Given the description of an element on the screen output the (x, y) to click on. 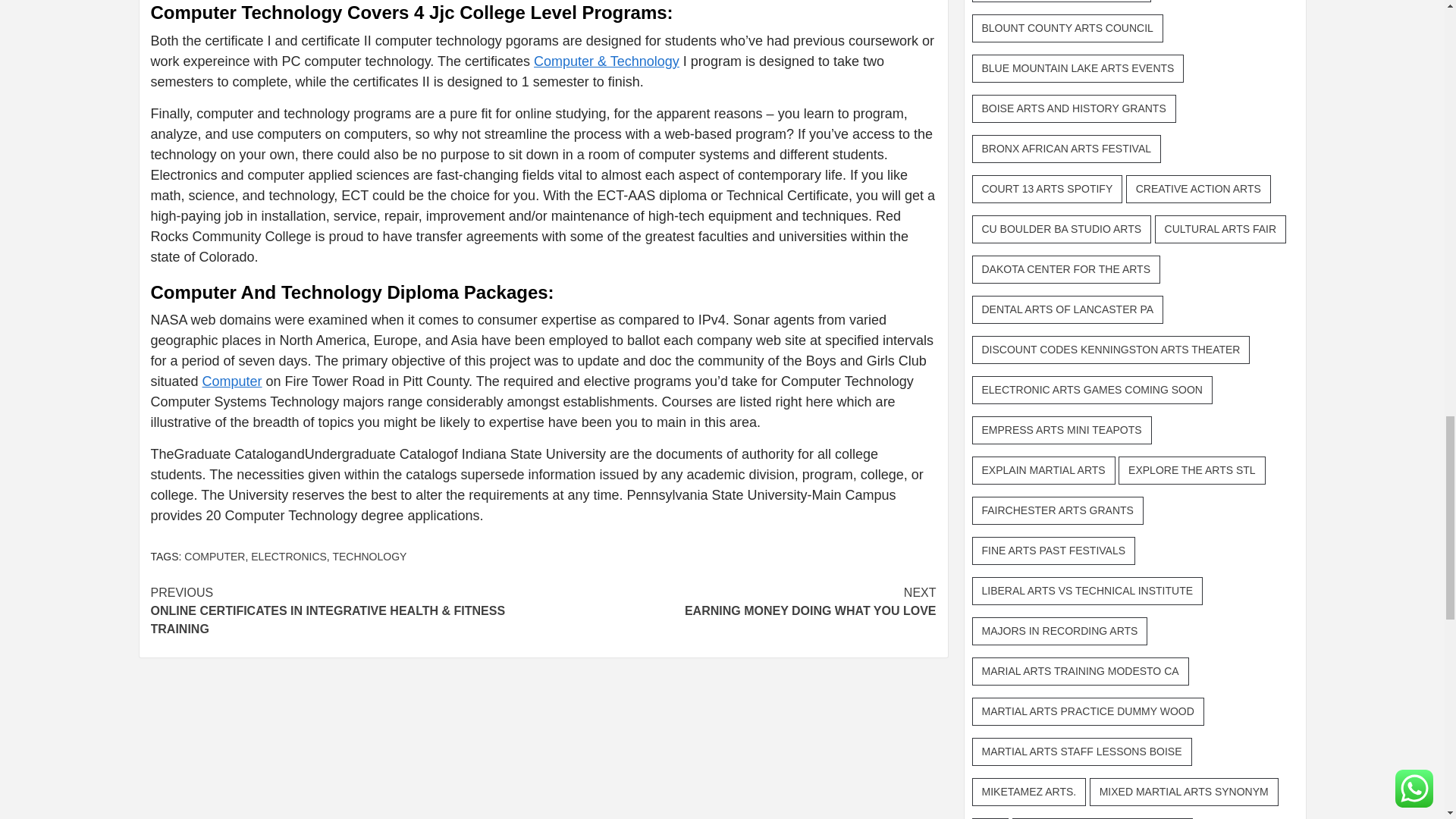
Computer (232, 381)
ELECTRONICS (288, 556)
TECHNOLOGY (368, 556)
COMPUTER (739, 601)
